Given the description of an element on the screen output the (x, y) to click on. 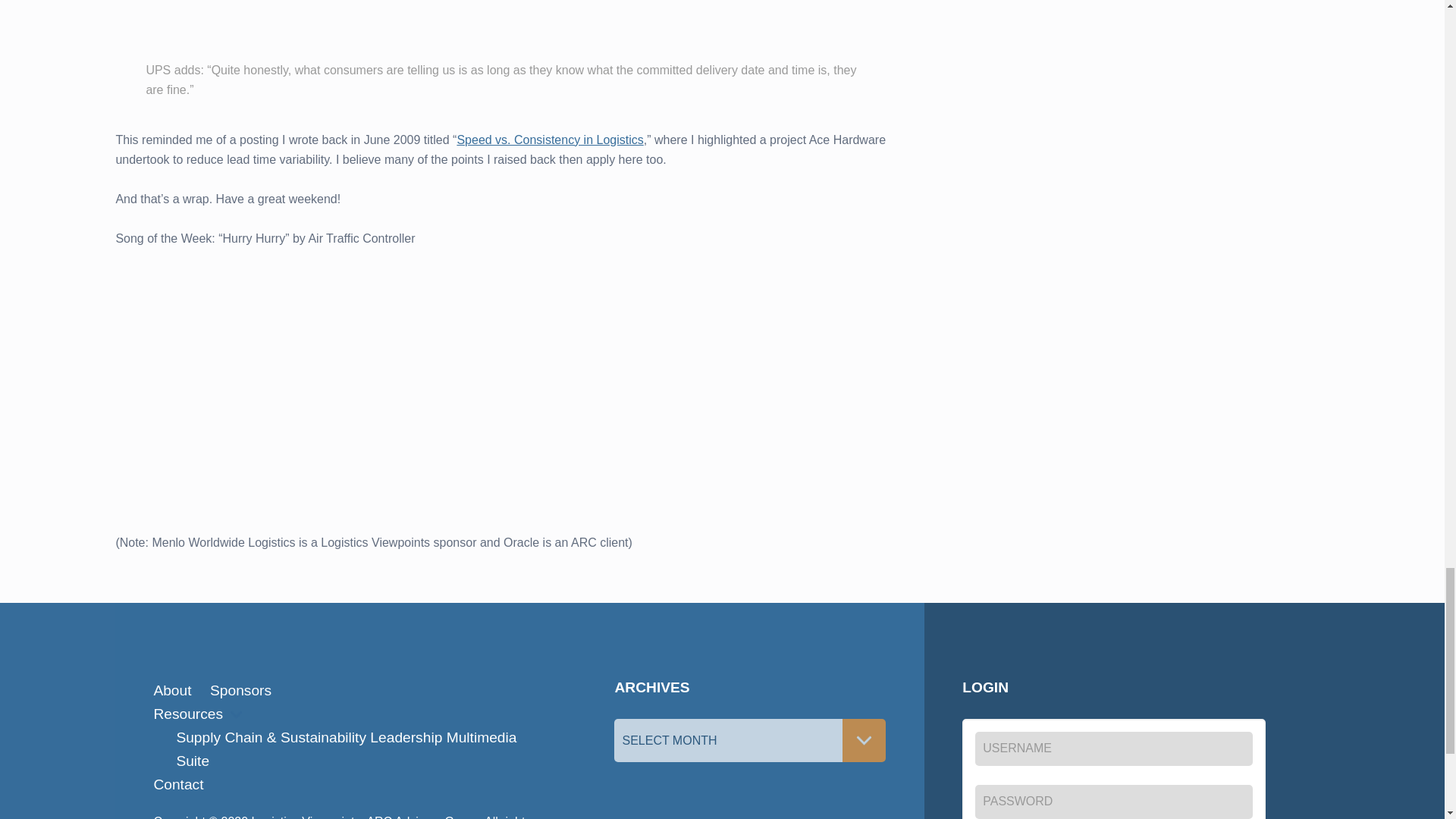
Please enter username (1113, 748)
Please enter password (1113, 801)
